Given the description of an element on the screen output the (x, y) to click on. 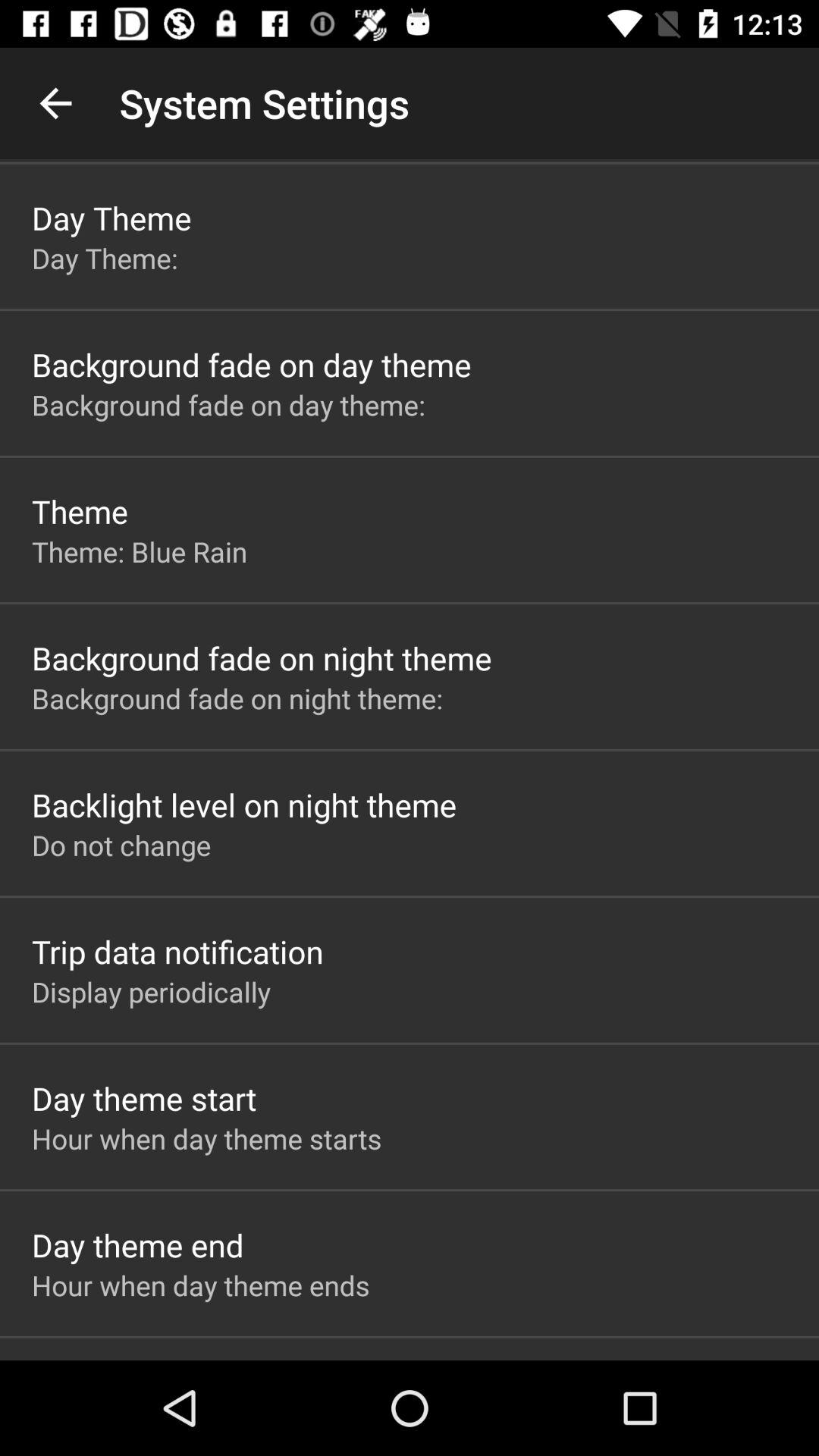
flip to backlight level on app (243, 804)
